Given the description of an element on the screen output the (x, y) to click on. 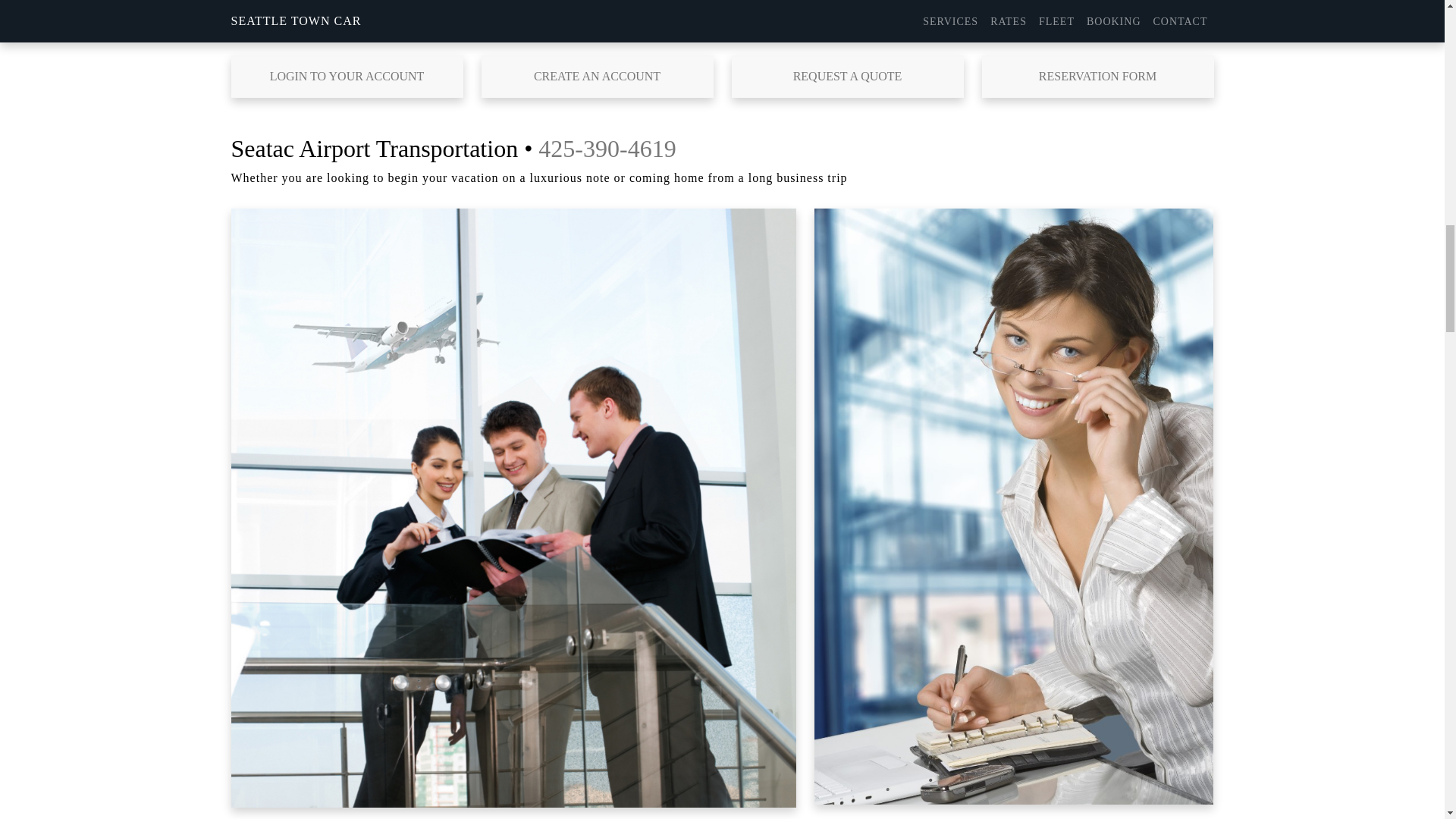
CREATE AN ACCOUNT (596, 76)
LOGIN TO YOUR ACCOUNT (346, 76)
RESERVATION FORM (1096, 76)
REQUEST A QUOTE (846, 76)
425-390-4619 (606, 148)
